Given the description of an element on the screen output the (x, y) to click on. 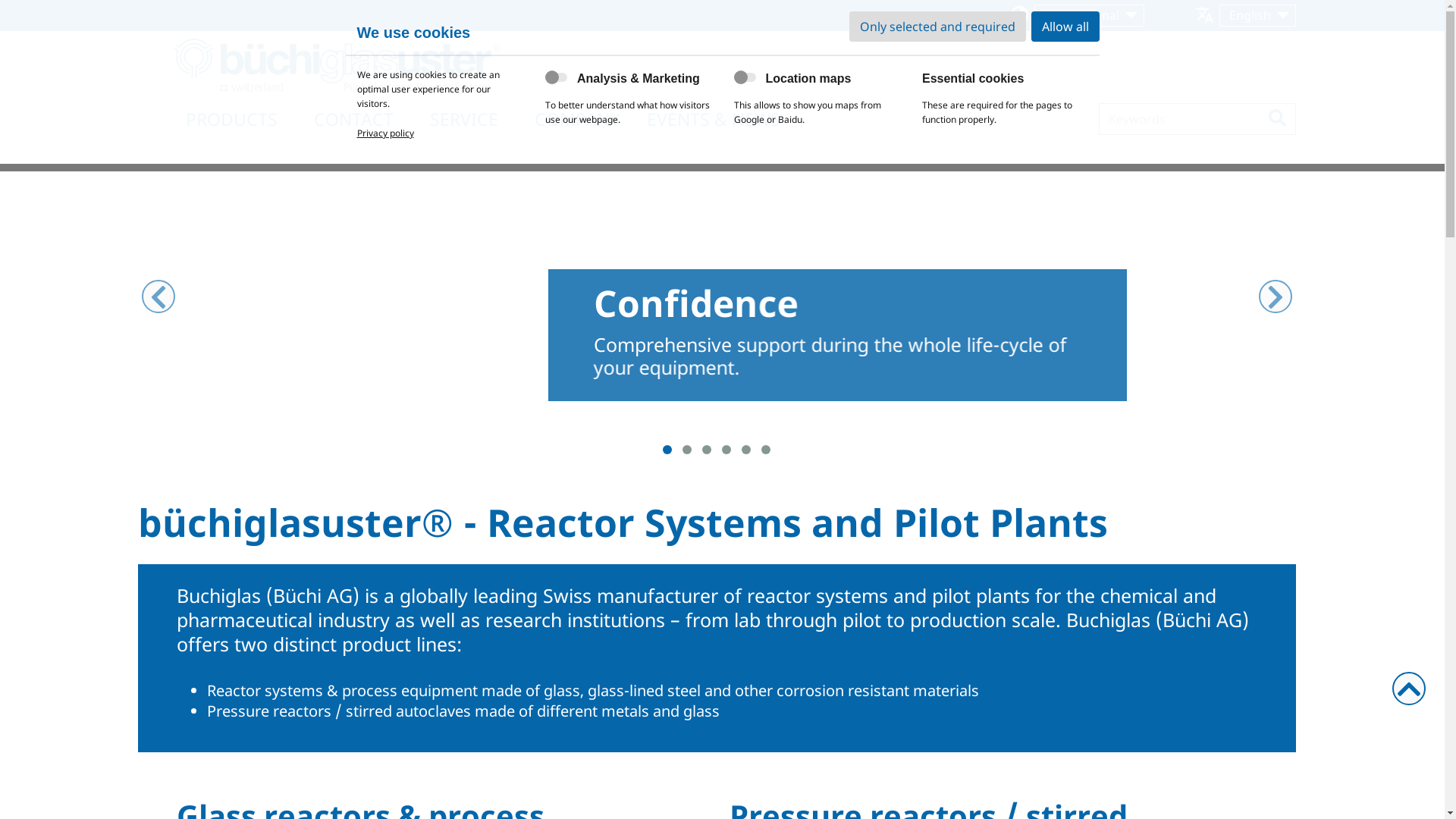
Only selected and required Element type: text (937, 26)
SERVICE Element type: text (463, 118)
PRODUCTS Element type: text (230, 118)
Privacy policy Element type: text (384, 132)
Buchiglas Element type: hover (336, 66)
EVENTS & NEWS Element type: text (712, 118)
English Element type: text (1257, 14)
International Element type: text (1089, 14)
COMPANY Element type: text (576, 118)
CONTACT Element type: text (353, 118)
Allow all Element type: text (1065, 26)
